Given the description of an element on the screen output the (x, y) to click on. 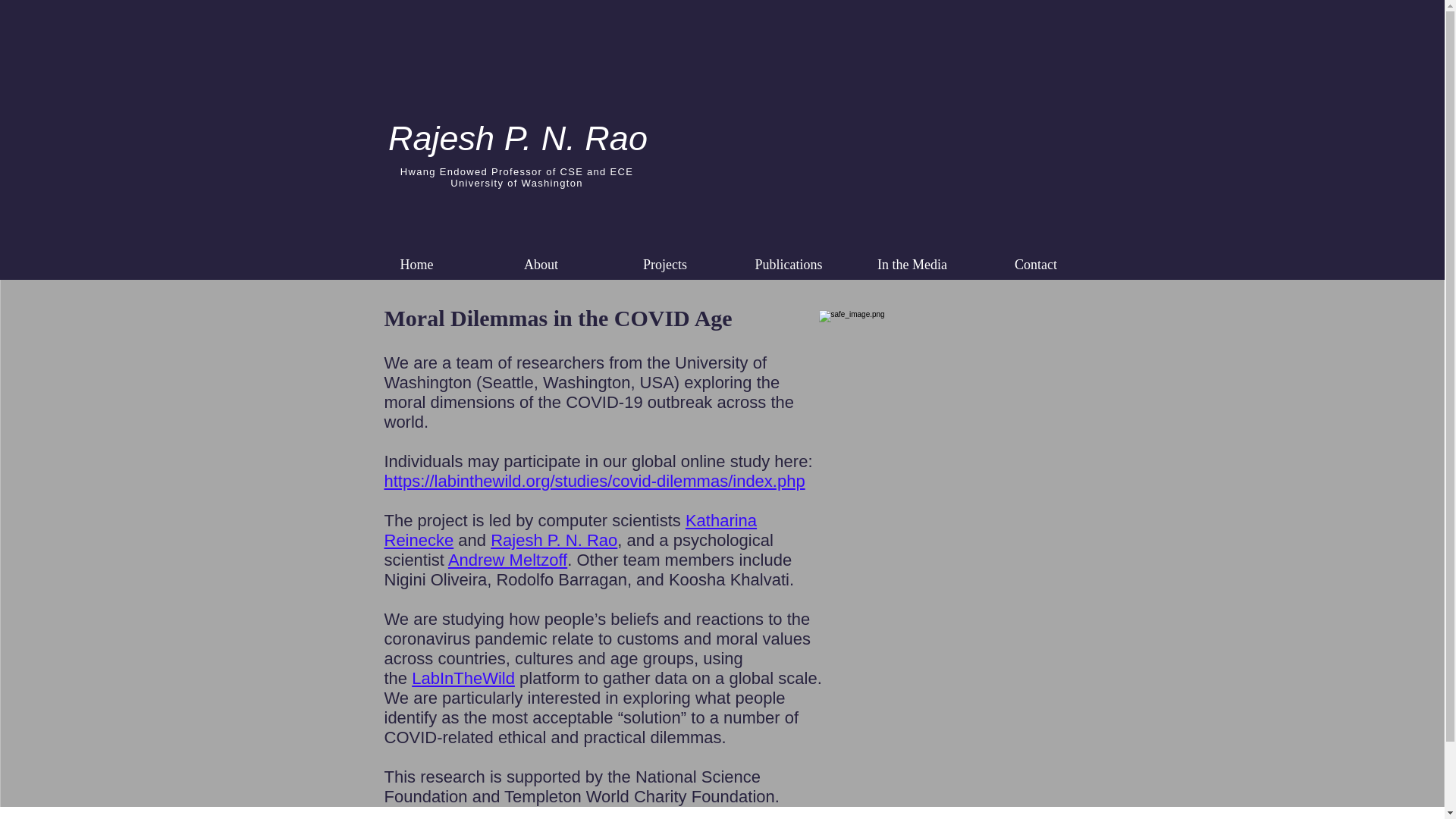
Rajesh P. N. Rao (553, 539)
Home (417, 264)
In the Media (912, 264)
Rajesh P. N. Rao (517, 138)
About (541, 264)
Projects (665, 264)
Andrew Meltzoff (507, 559)
LabInTheWild (463, 678)
Katharina Reinecke (570, 530)
Contact (1035, 264)
Hwang Endowed Professor of CSE and ECE (516, 171)
Publications (788, 264)
